Given the description of an element on the screen output the (x, y) to click on. 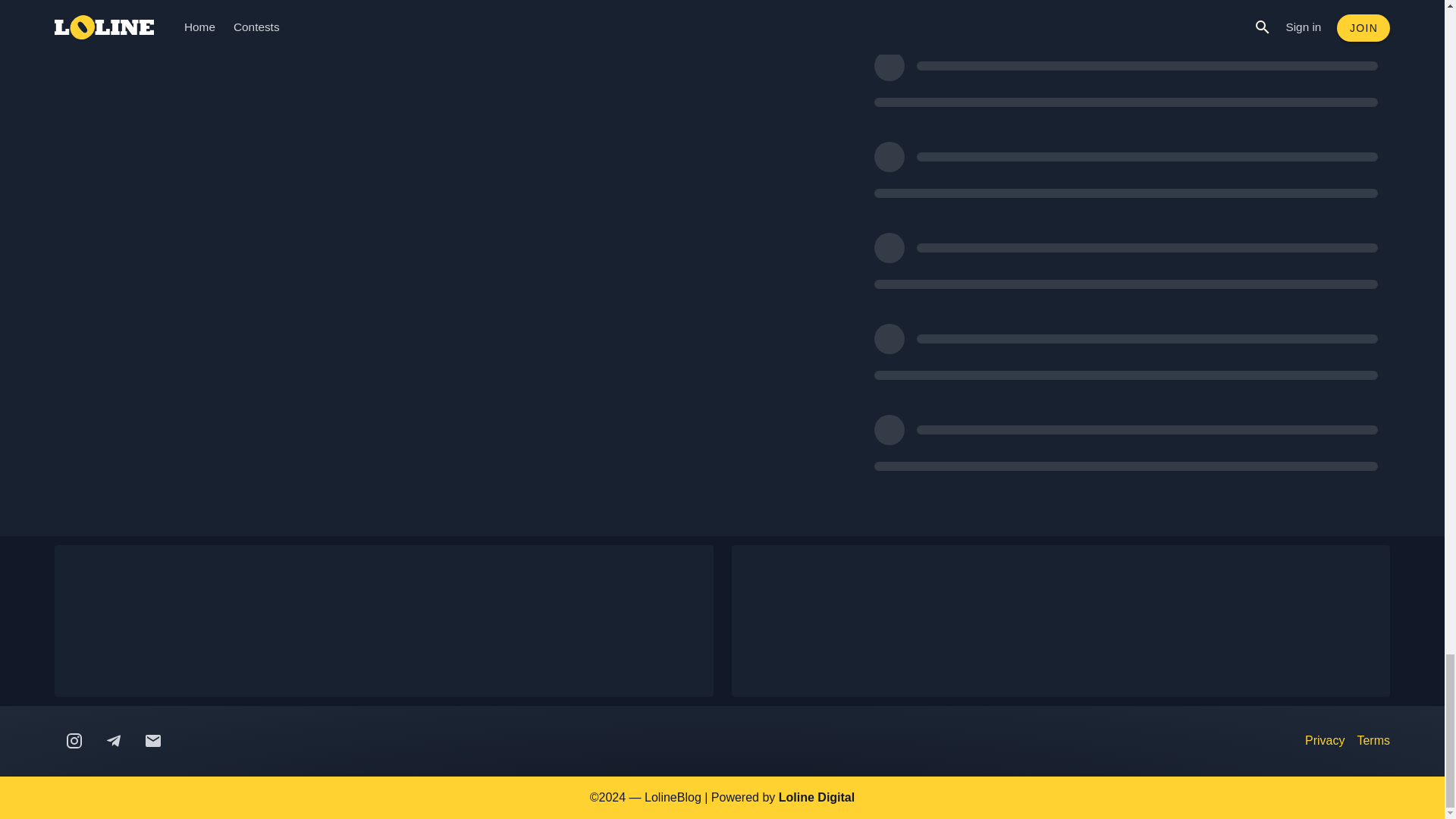
Privacy (1323, 741)
Terms (1373, 741)
Loline Digital (816, 797)
